Given the description of an element on the screen output the (x, y) to click on. 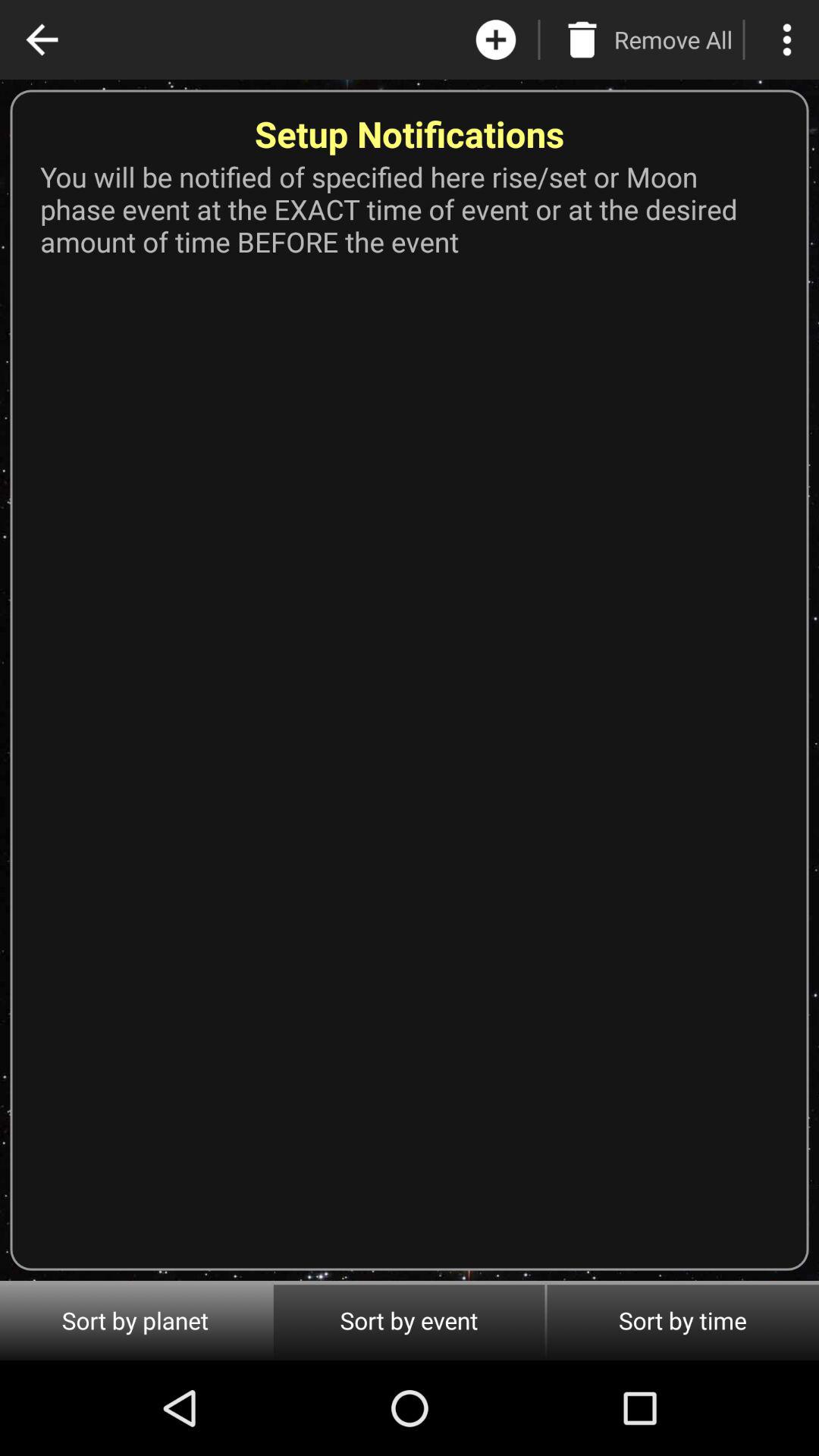
remove all (582, 39)
